Given the description of an element on the screen output the (x, y) to click on. 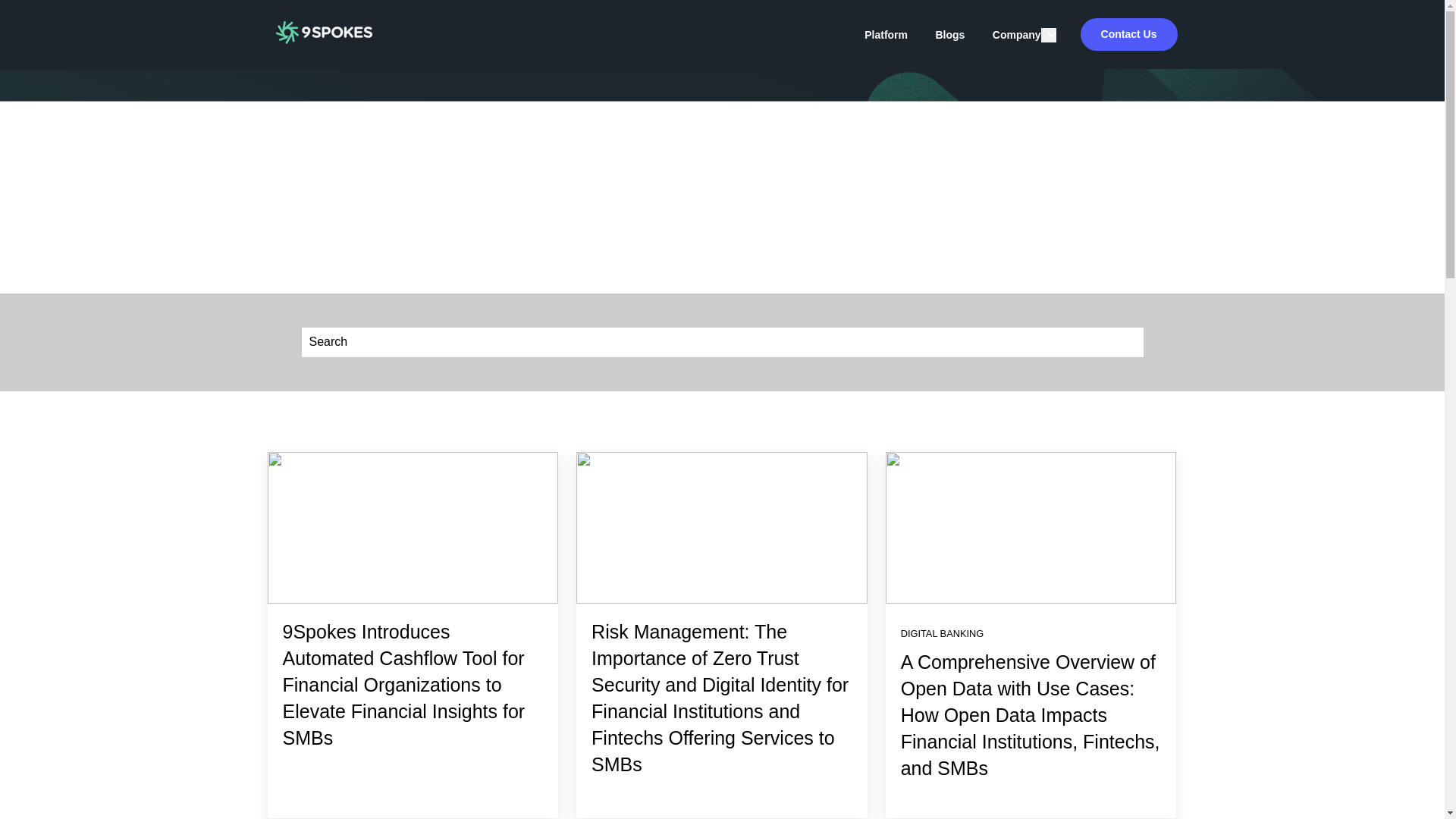
Contact Us (1128, 34)
Platform (885, 34)
Blogs (948, 34)
DIGITAL BANKING (942, 633)
Company (1016, 34)
Show submenu for Company (1049, 34)
